Given the description of an element on the screen output the (x, y) to click on. 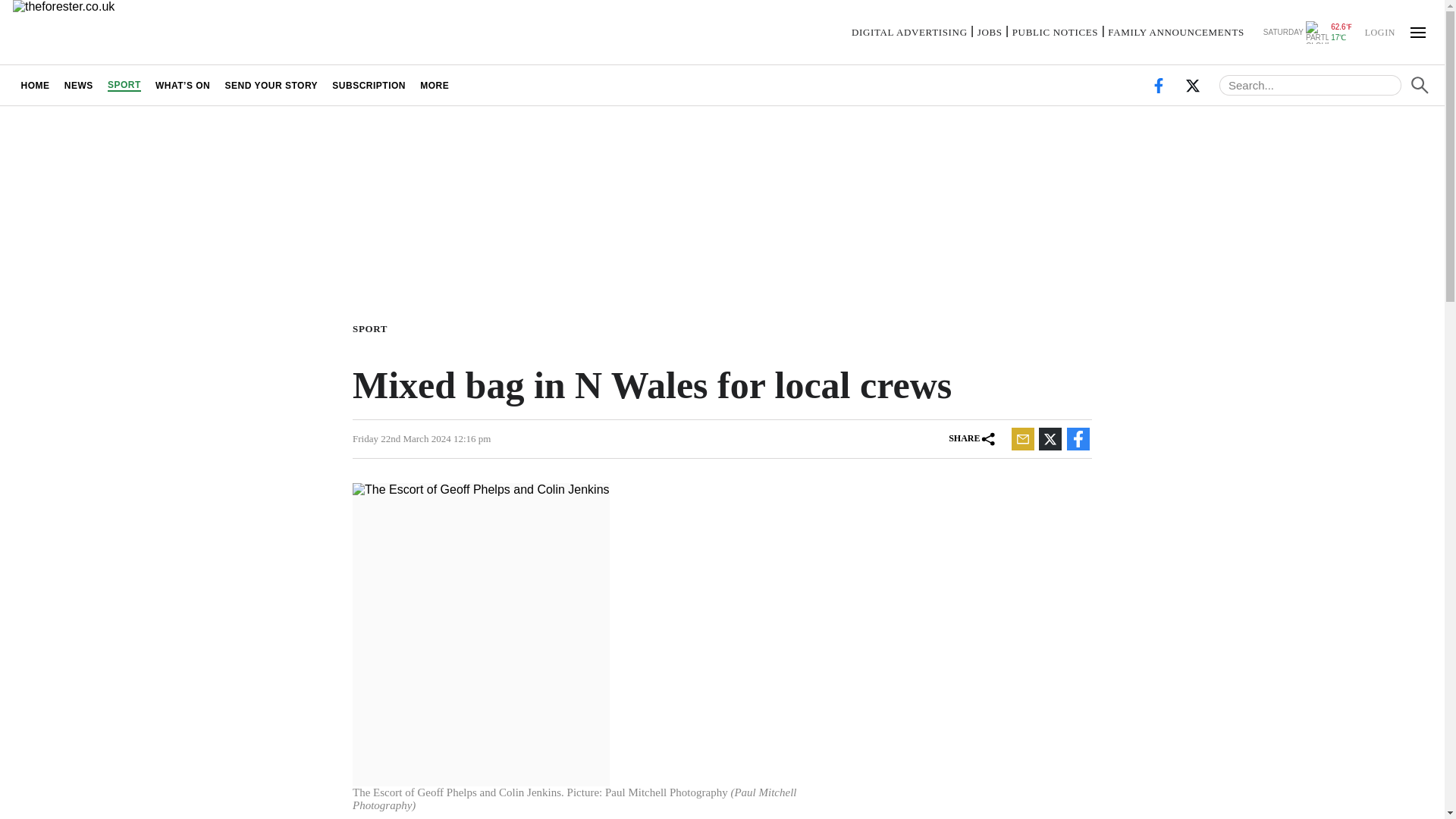
FAMILY ANNOUNCEMENTS (1176, 32)
MORE (435, 85)
SEND YOUR STORY (270, 85)
SUBSCRIPTION (368, 85)
HOME (34, 85)
SPORT (124, 85)
NEWS (78, 85)
LOGIN (1379, 31)
SPORT (372, 328)
